Given the description of an element on the screen output the (x, y) to click on. 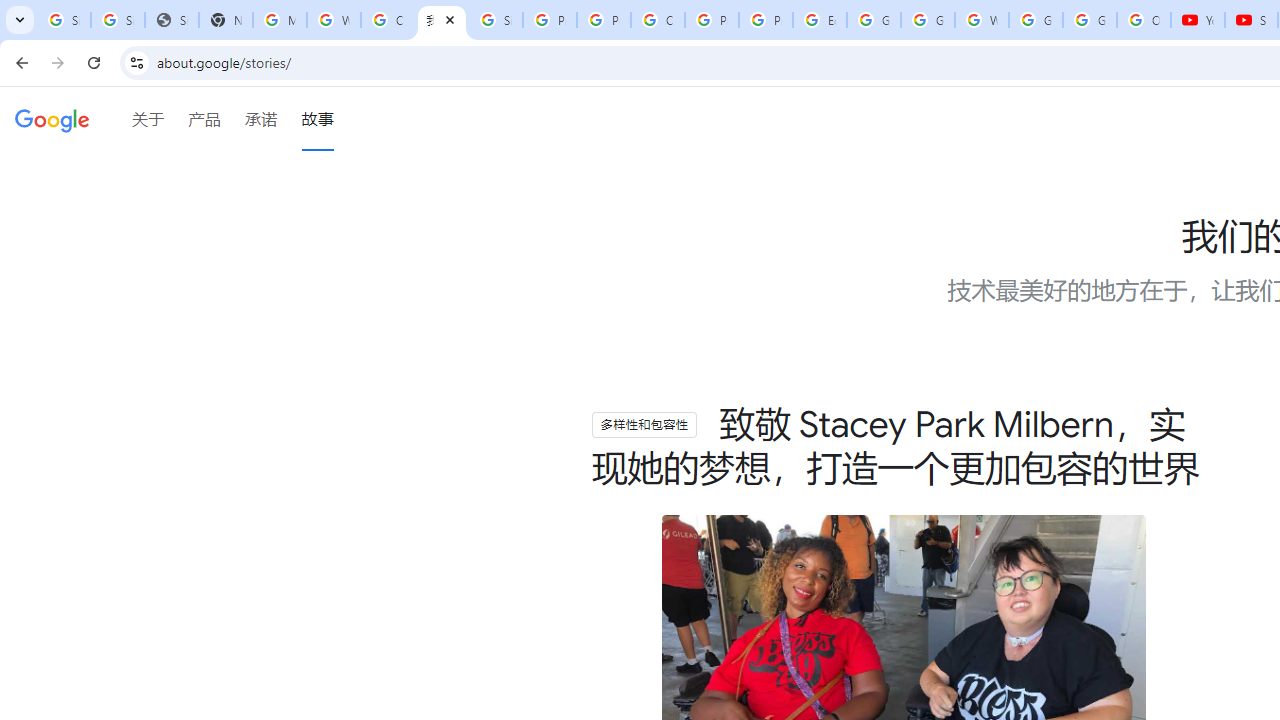
Who is my administrator? - Google Account Help (333, 20)
Sign in - Google Accounts (495, 20)
YouTube (1197, 20)
Create your Google Account (657, 20)
New Tab (225, 20)
Sign In - USA TODAY (171, 20)
Edit and view right-to-left text - Google Docs Editors Help (819, 20)
